Given the description of an element on the screen output the (x, y) to click on. 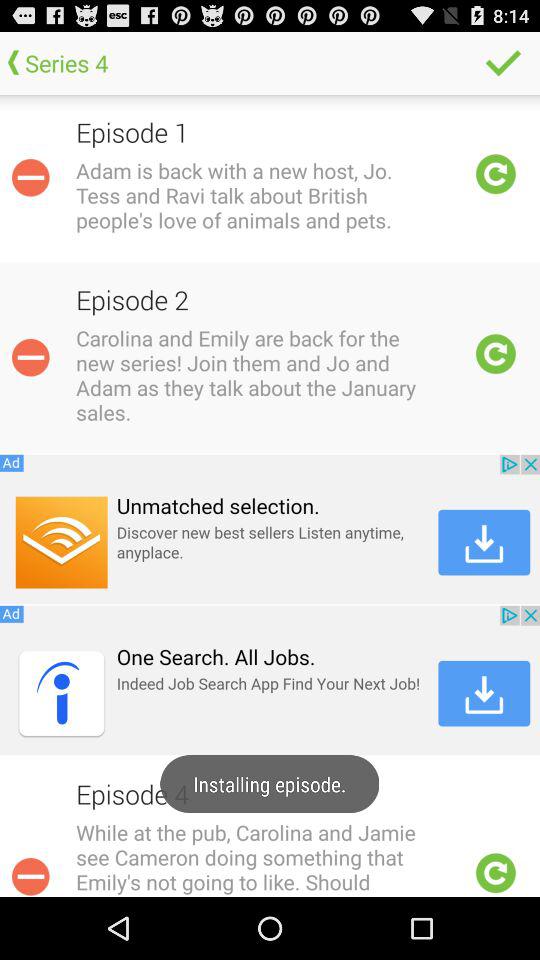
go to advertiser site (270, 680)
